Given the description of an element on the screen output the (x, y) to click on. 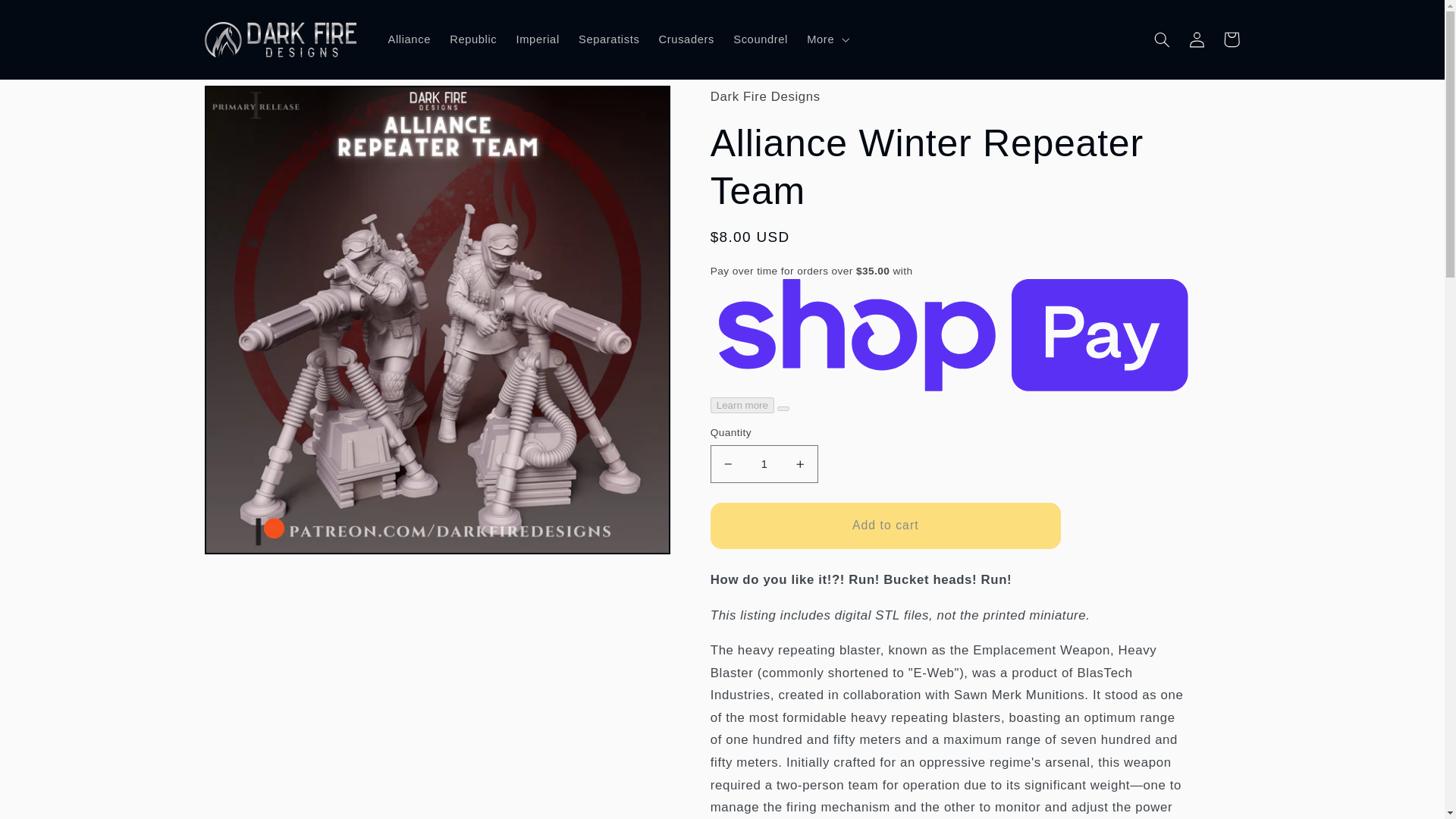
1 (764, 463)
Republic (473, 39)
Imperial (537, 39)
Crusaders (686, 39)
Alliance (409, 39)
Log in (1196, 39)
Skip to product information (256, 108)
Scoundrel (760, 39)
Skip to content (52, 22)
Cart (1231, 39)
Separatists (609, 39)
